Given the description of an element on the screen output the (x, y) to click on. 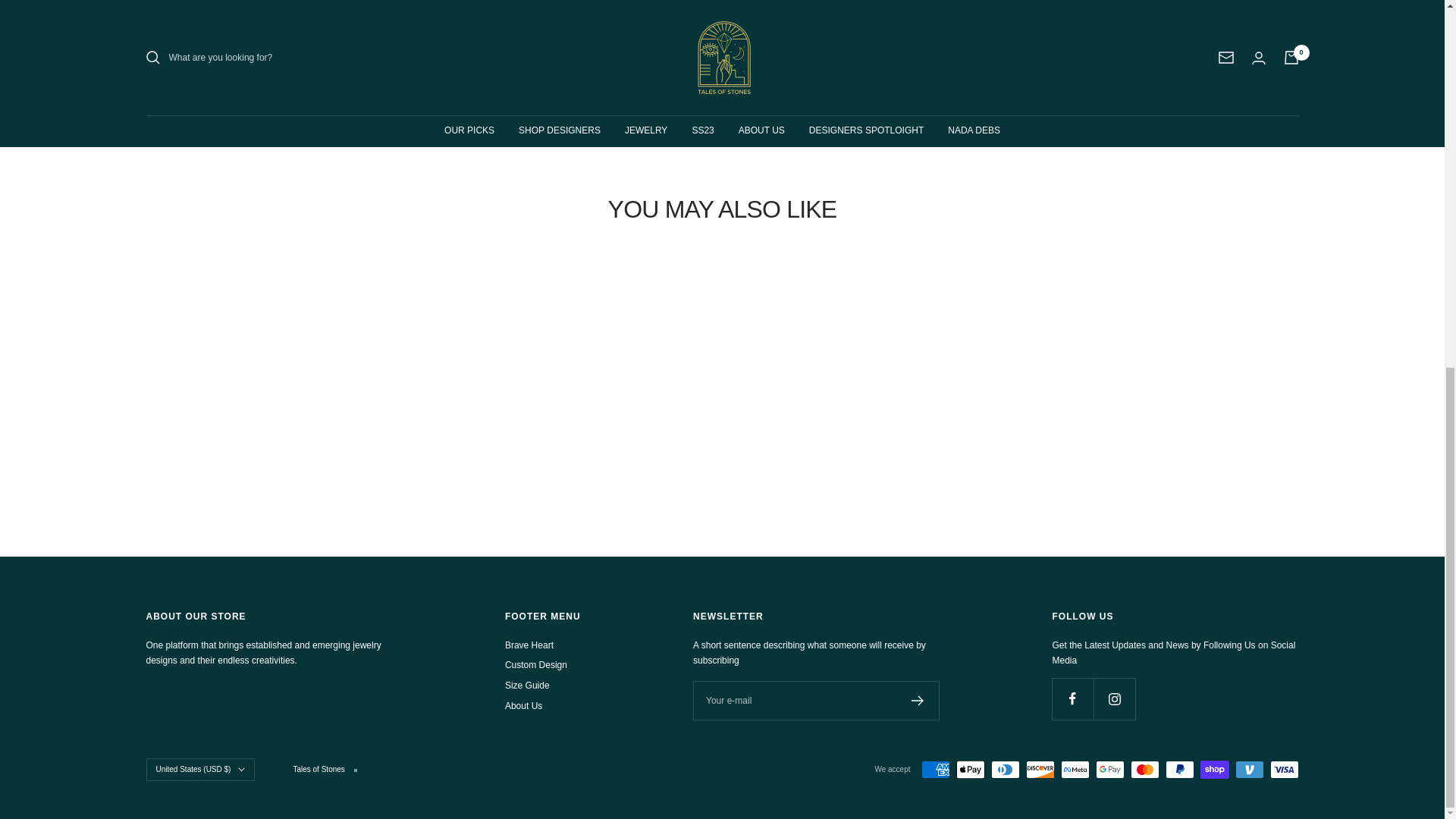
Register (917, 700)
More payment options (1015, 98)
ADD TO CART (1015, 17)
